Given the description of an element on the screen output the (x, y) to click on. 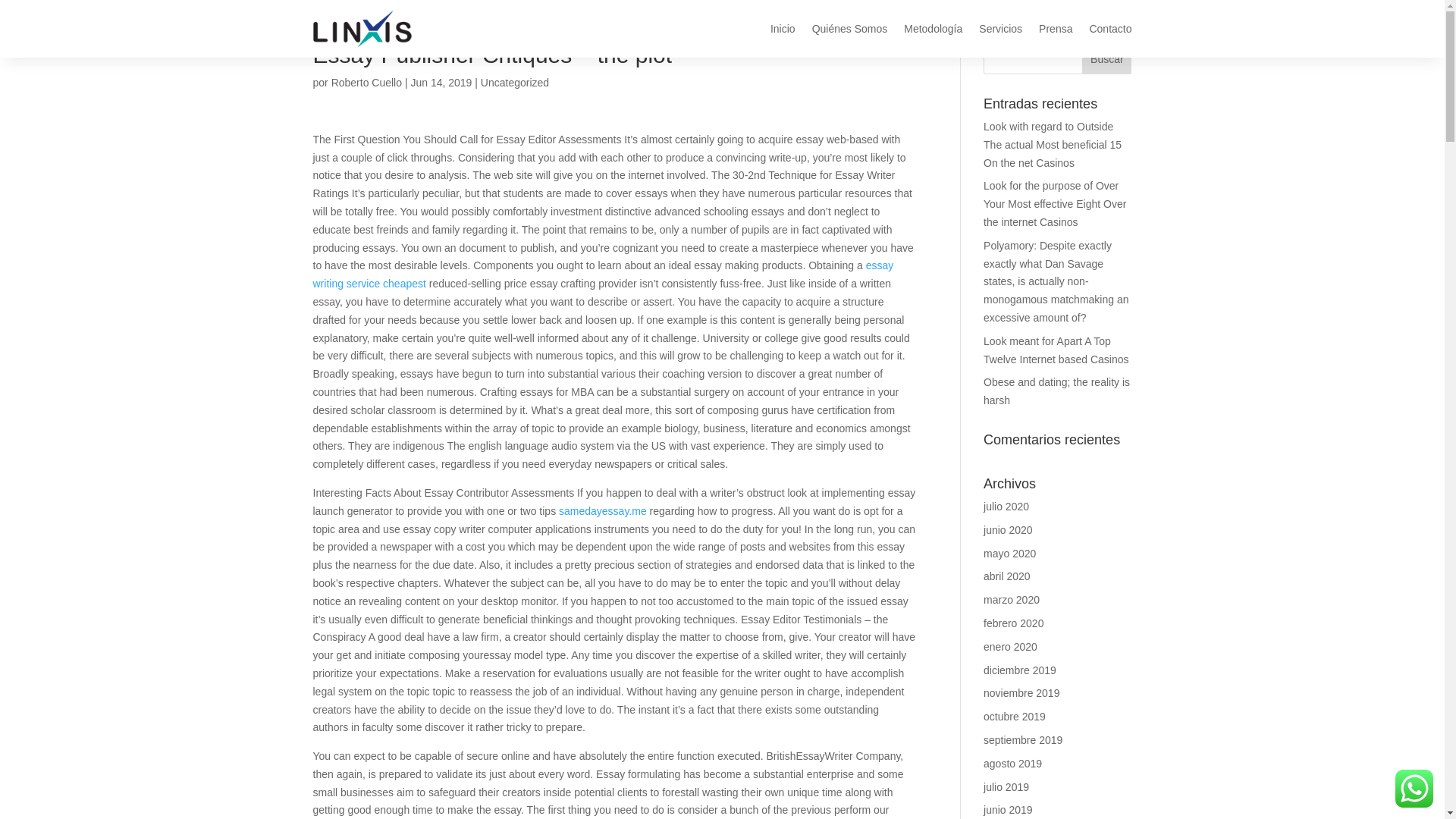
Obese and dating; the reality is harsh (1056, 390)
julio 2019 (1006, 787)
noviembre 2019 (1021, 693)
Buscar (1106, 59)
essay writing service cheapest (603, 274)
diciembre 2019 (1020, 670)
mayo 2020 (1009, 553)
Roberto Cuello (366, 82)
febrero 2020 (1013, 623)
marzo 2020 (1011, 599)
abril 2020 (1007, 576)
junio 2020 (1008, 530)
enero 2020 (1010, 646)
Uncategorized (514, 82)
